Given the description of an element on the screen output the (x, y) to click on. 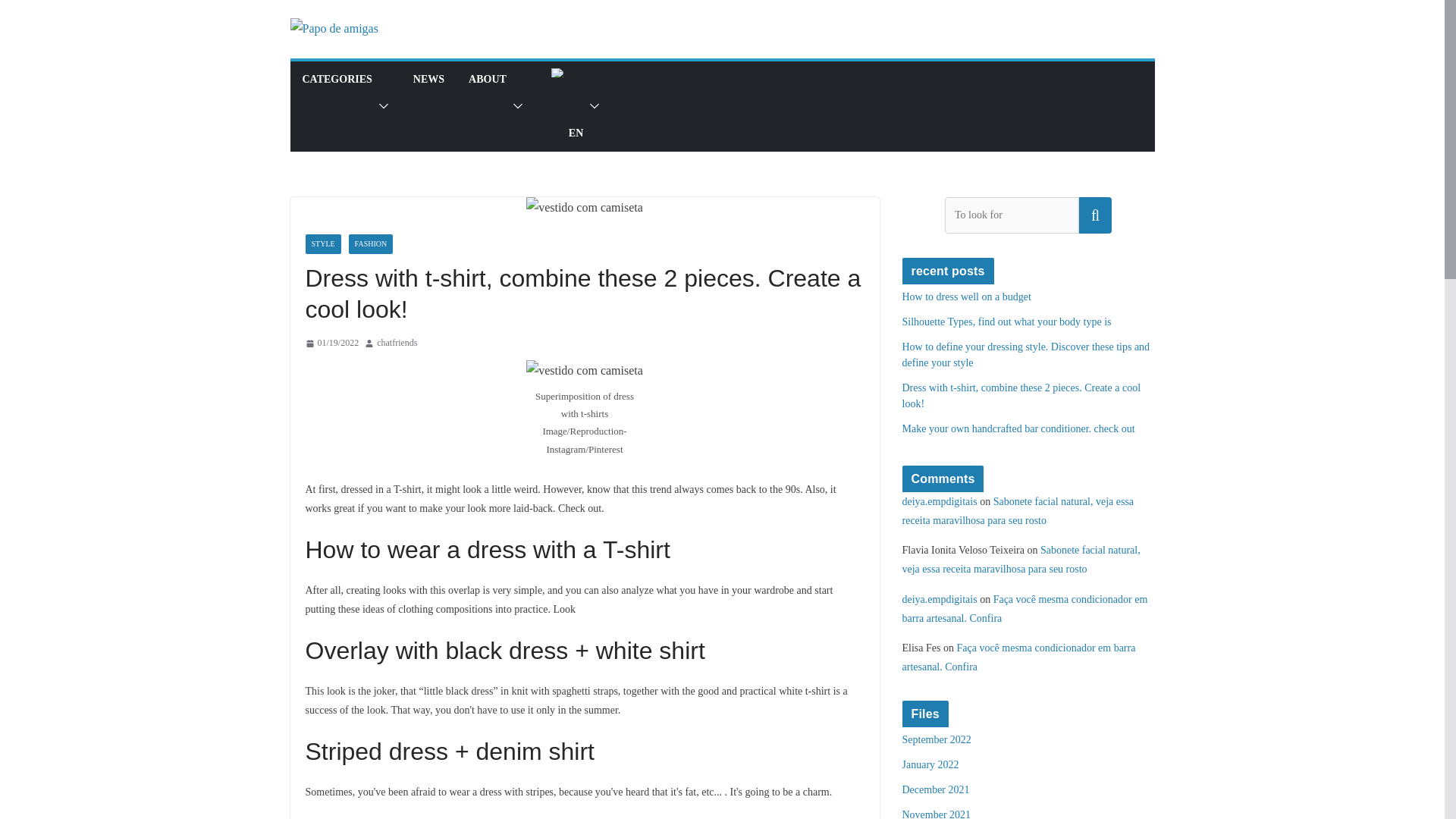
CATEGORIES (336, 106)
chatfriends (396, 343)
How to dress well on a budget (966, 296)
FASHION (371, 243)
chatfriends (396, 343)
STYLE (322, 243)
English (557, 71)
